Given the description of an element on the screen output the (x, y) to click on. 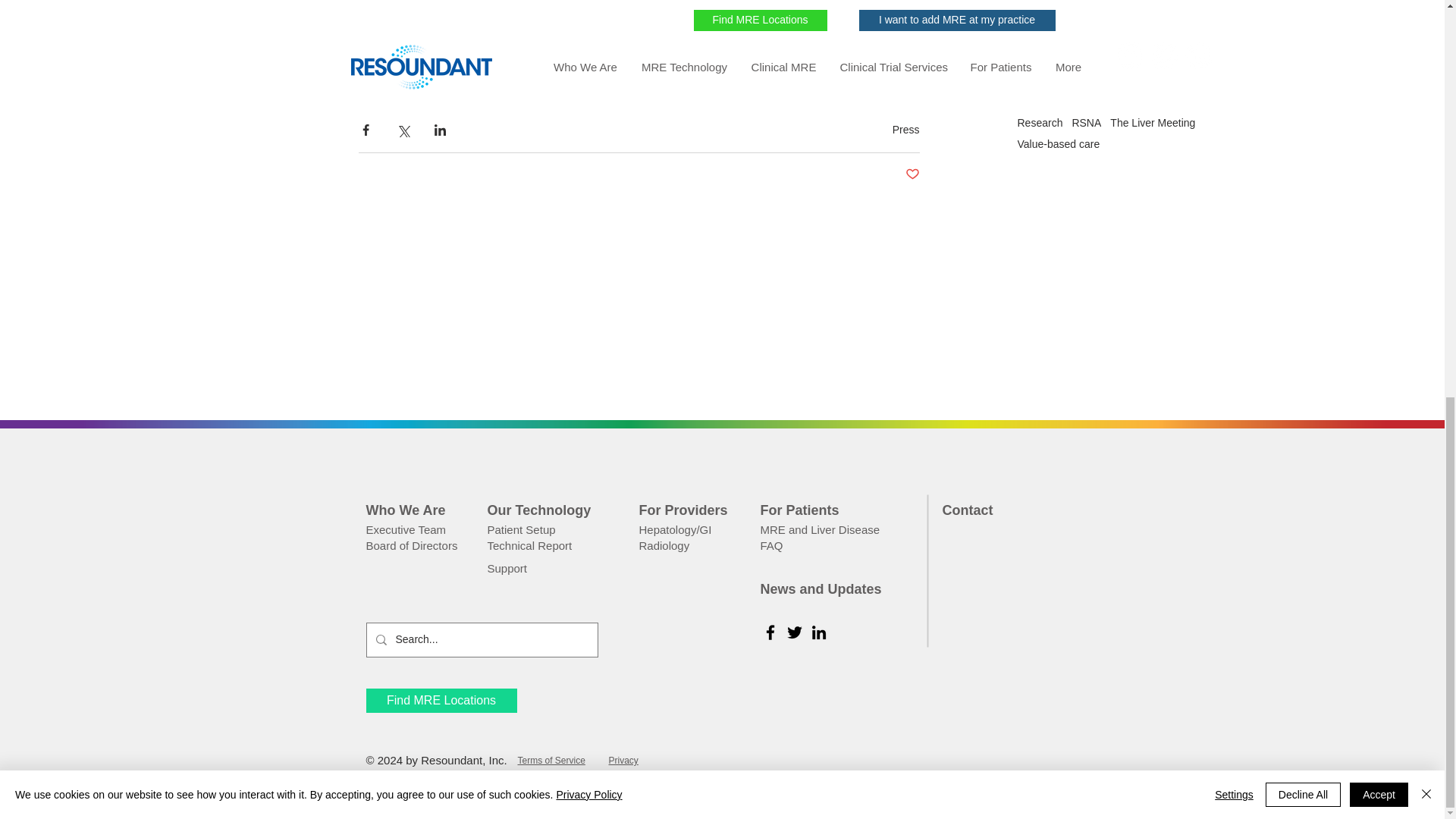
FDA (396, 73)
NIH (366, 73)
Press (906, 129)
Post not marked as liked (912, 174)
